Given the description of an element on the screen output the (x, y) to click on. 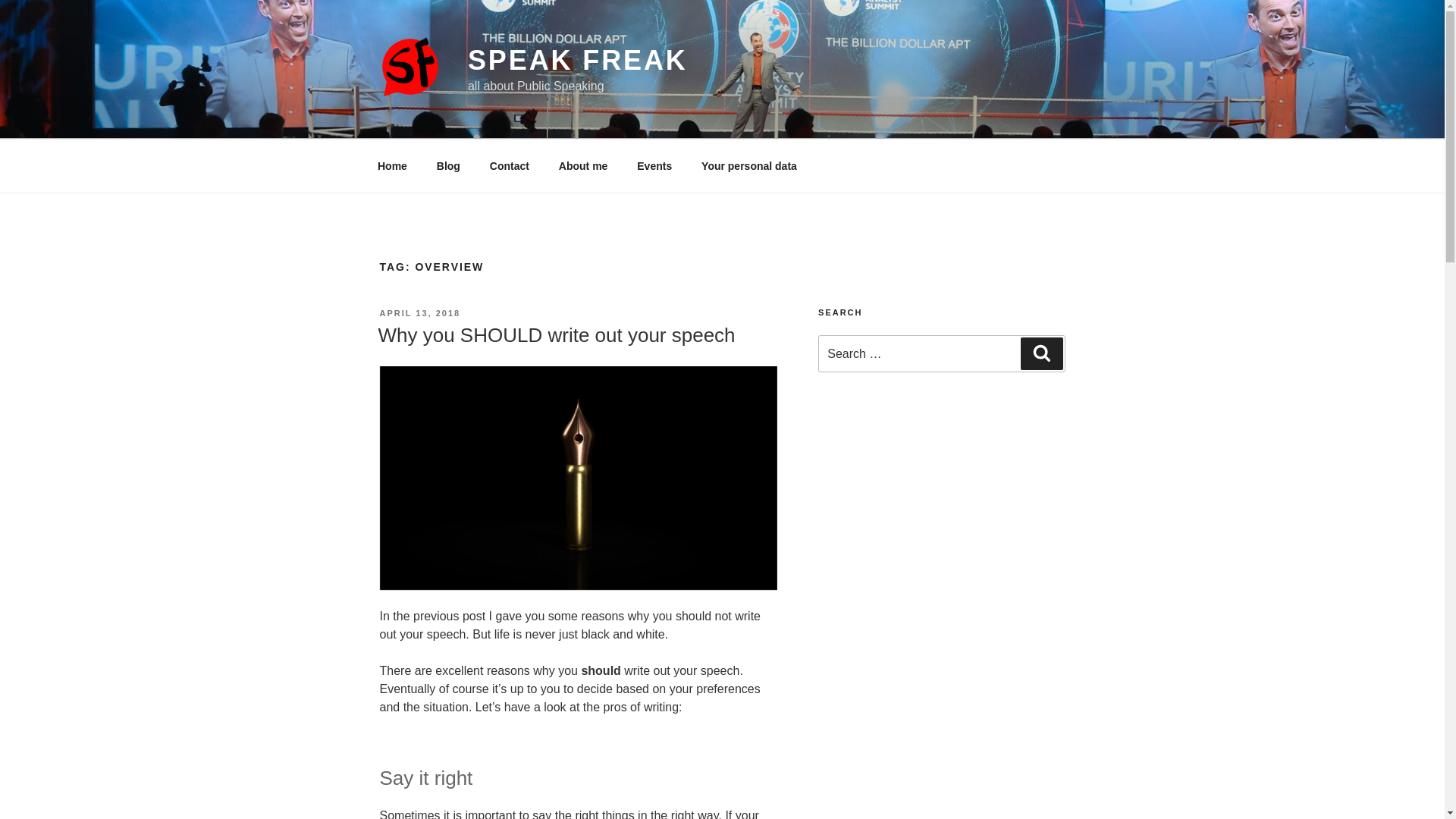
Events (654, 165)
Blog (448, 165)
Contact (508, 165)
About me (582, 165)
Home (392, 165)
SPEAK FREAK (577, 60)
APRIL 13, 2018 (419, 312)
Your personal data (749, 165)
Why you SHOULD write out your speech (556, 334)
Search (1041, 353)
